Given the description of an element on the screen output the (x, y) to click on. 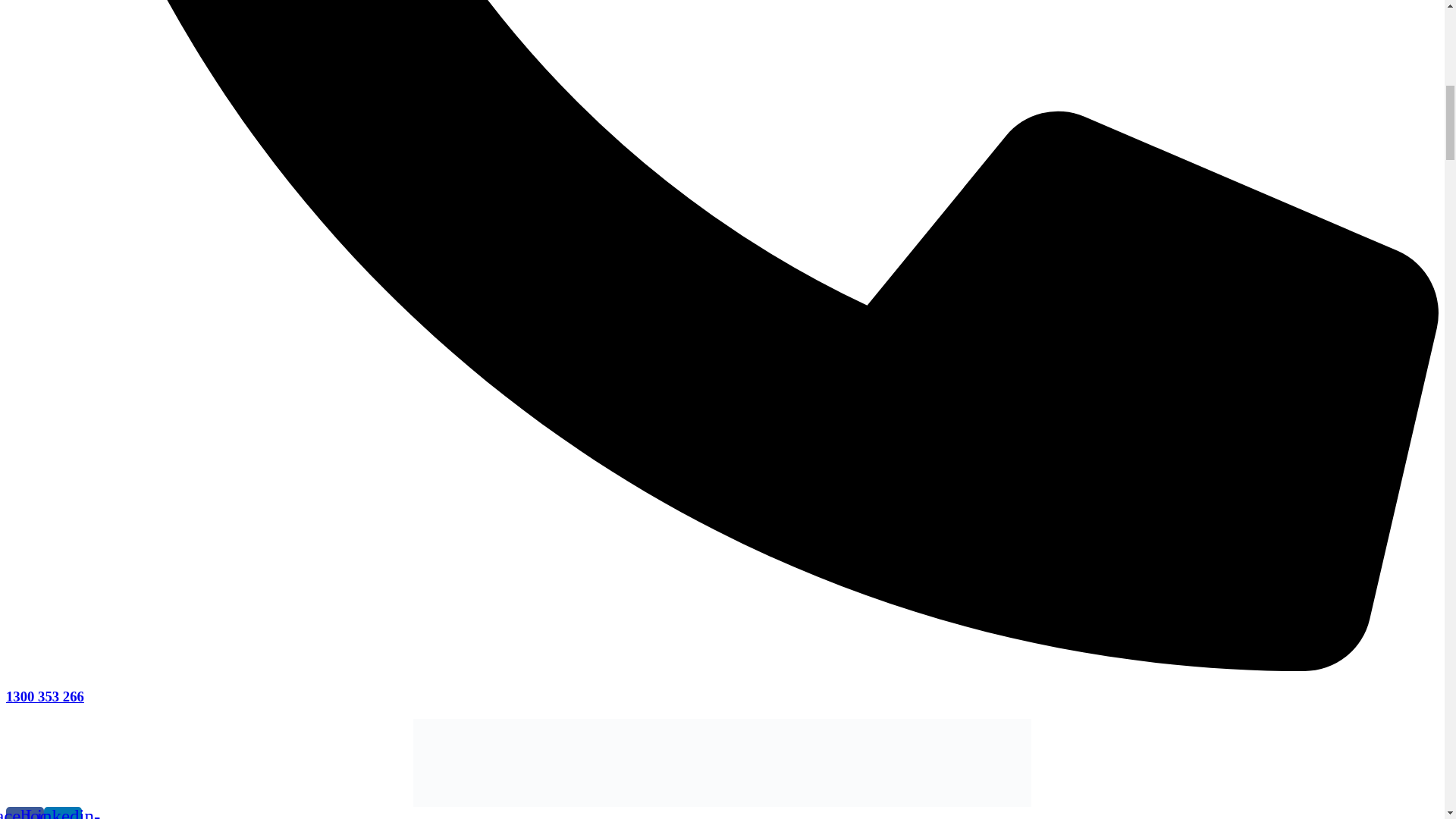
Facebook-f (24, 812)
1300 353 266 (44, 696)
Linkedin-in (62, 812)
